Given the description of an element on the screen output the (x, y) to click on. 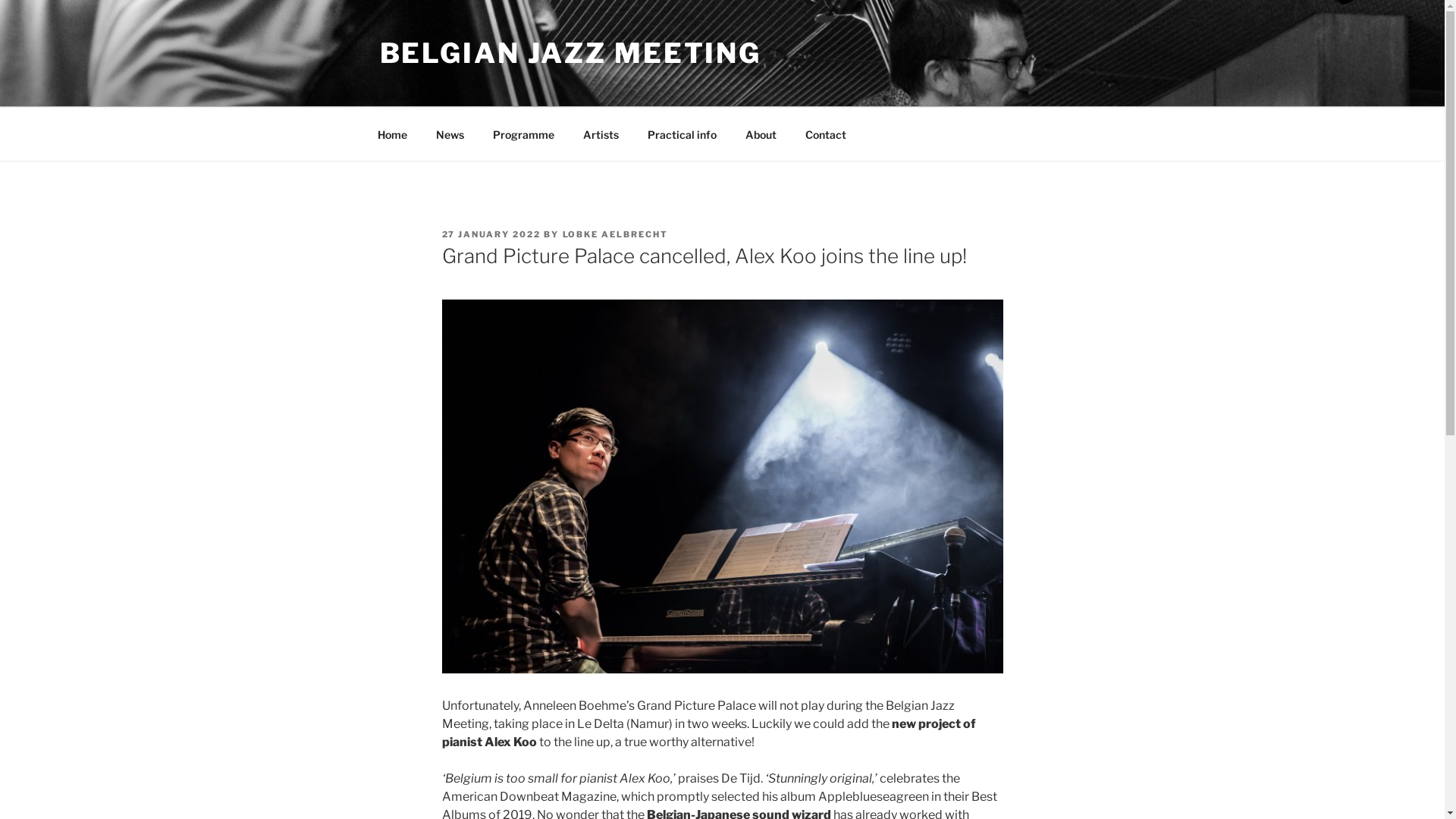
27 JANUARY 2022 Element type: text (490, 234)
Home Element type: text (392, 133)
LOBKE AELBRECHT Element type: text (615, 234)
News Element type: text (450, 133)
Practical info Element type: text (681, 133)
Skip to content Element type: text (0, 0)
BELGIAN JAZZ MEETING Element type: text (570, 52)
About Element type: text (761, 133)
Artists Element type: text (601, 133)
Contact Element type: text (825, 133)
Programme Element type: text (523, 133)
